Given the description of an element on the screen output the (x, y) to click on. 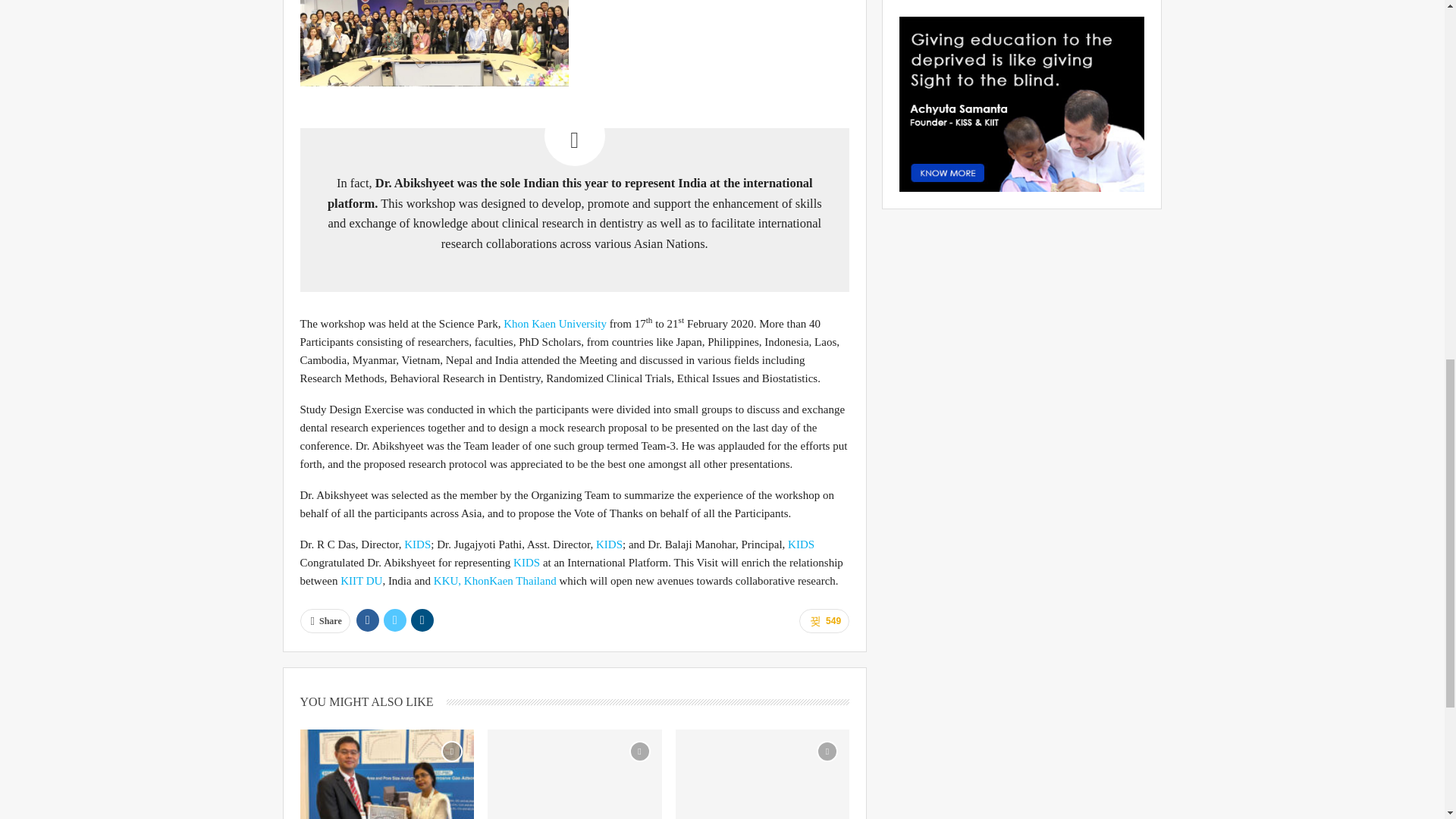
KIDS (609, 544)
KKU, KhonKaen Thailand (494, 580)
KIIT DU (360, 580)
KIDS (526, 562)
KIDS (415, 544)
KIDS (800, 544)
Khon Kaen University (555, 323)
